Given the description of an element on the screen output the (x, y) to click on. 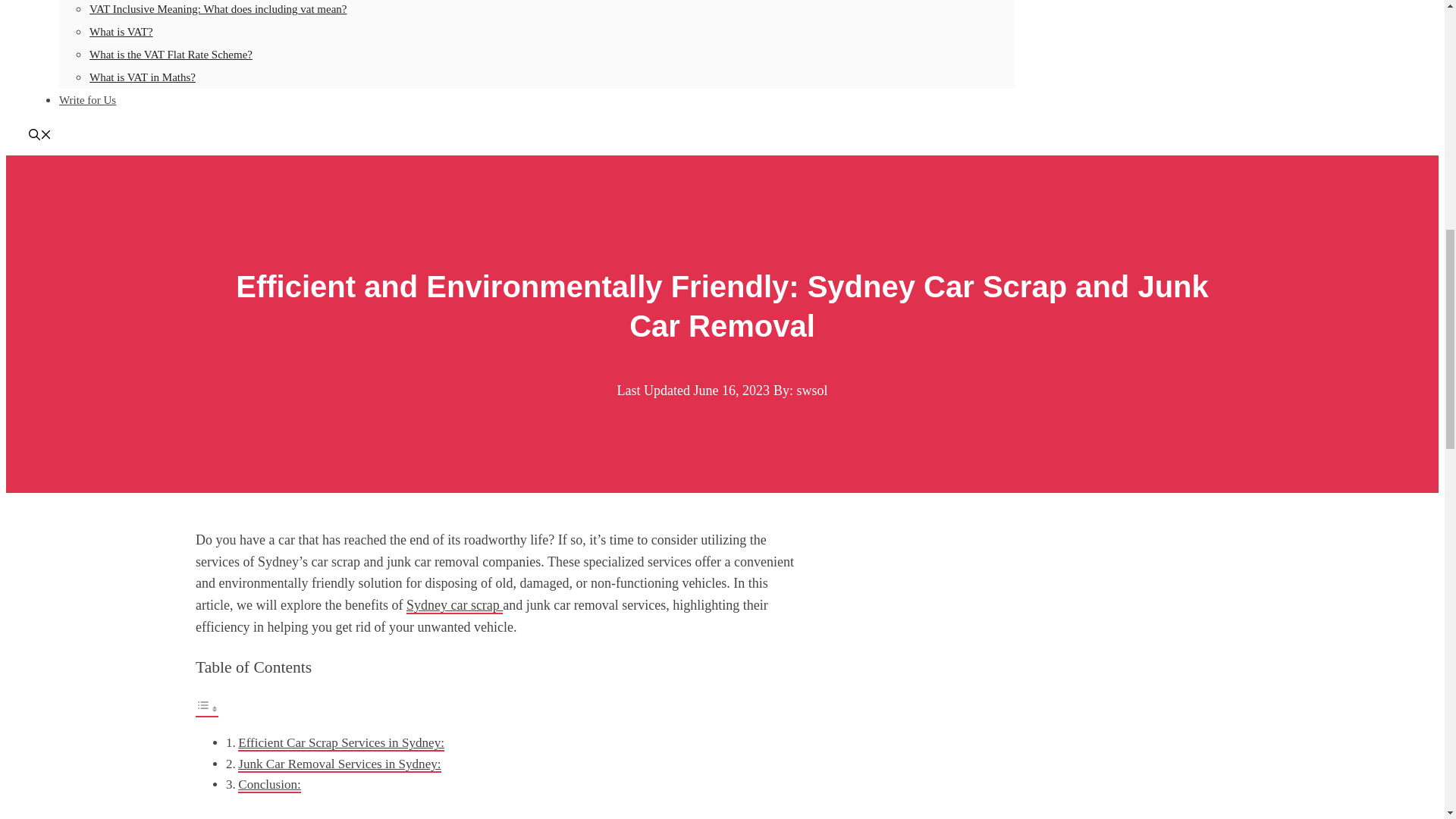
Efficient Car Scrap Services in Sydney: (341, 743)
Sydney car scrap (454, 605)
Write for Us (87, 100)
Efficient Car Scrap Services in Sydney: (341, 743)
What is VAT? (120, 31)
What is the VAT Flat Rate Scheme? (169, 54)
VAT Inclusive Meaning: What does including vat mean? (217, 9)
What is VAT in Maths? (141, 77)
Conclusion: (269, 785)
Junk Car Removal Services in Sydney: (339, 764)
